Given the description of an element on the screen output the (x, y) to click on. 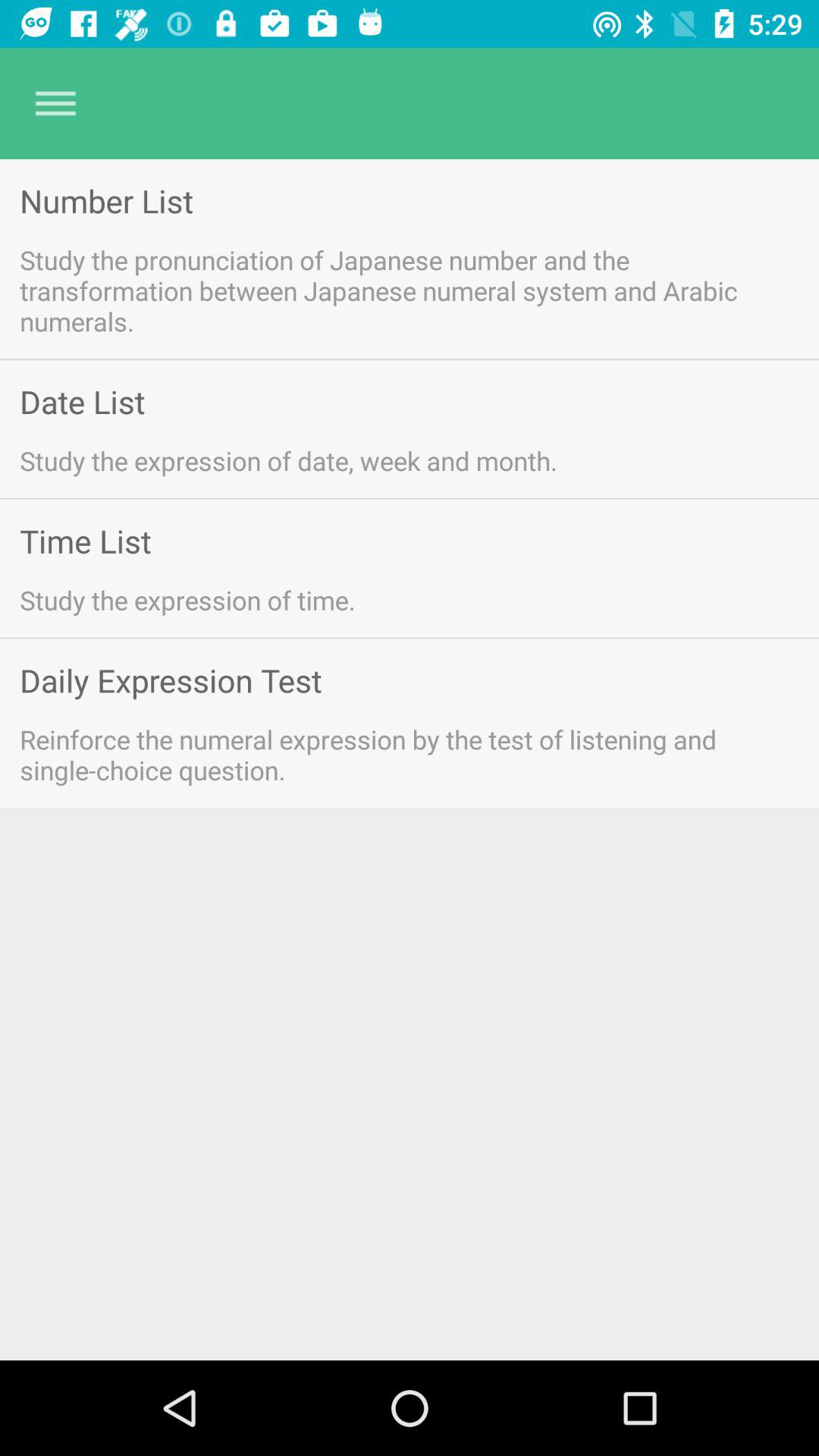
select the icon below study the pronunciation app (82, 401)
